Given the description of an element on the screen output the (x, y) to click on. 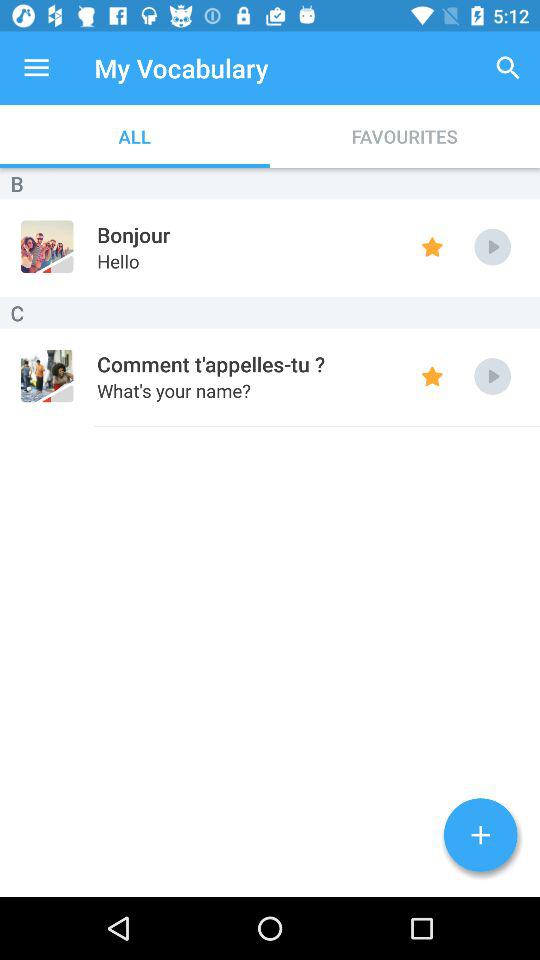
tap the icon next to the my vocabulary app (36, 68)
